Given the description of an element on the screen output the (x, y) to click on. 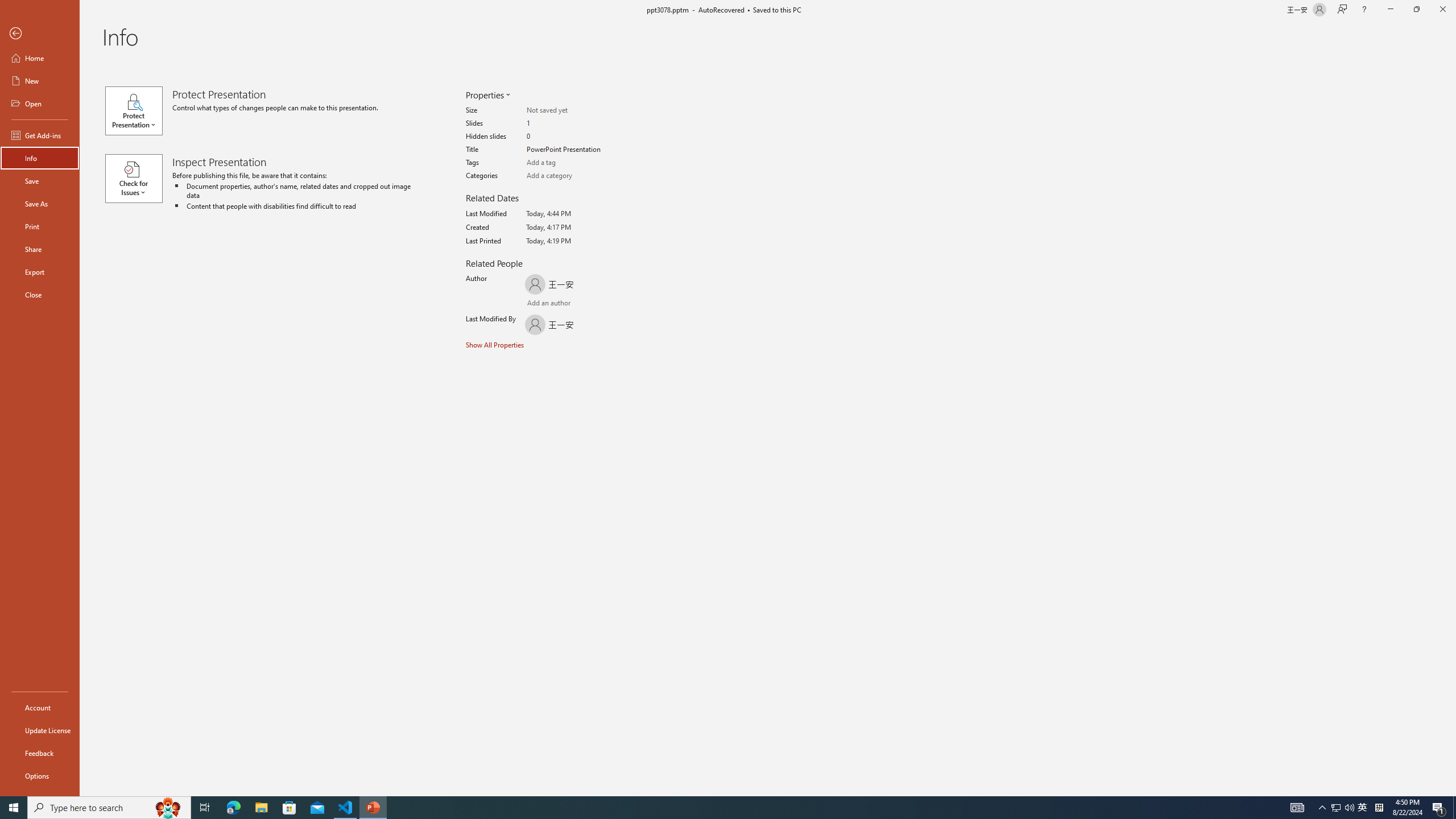
Check for Issues (137, 178)
Tags (571, 162)
Verify Names (559, 304)
Protect Presentation (137, 110)
Get Add-ins (40, 134)
Show All Properties (495, 343)
Properties (486, 94)
